Given the description of an element on the screen output the (x, y) to click on. 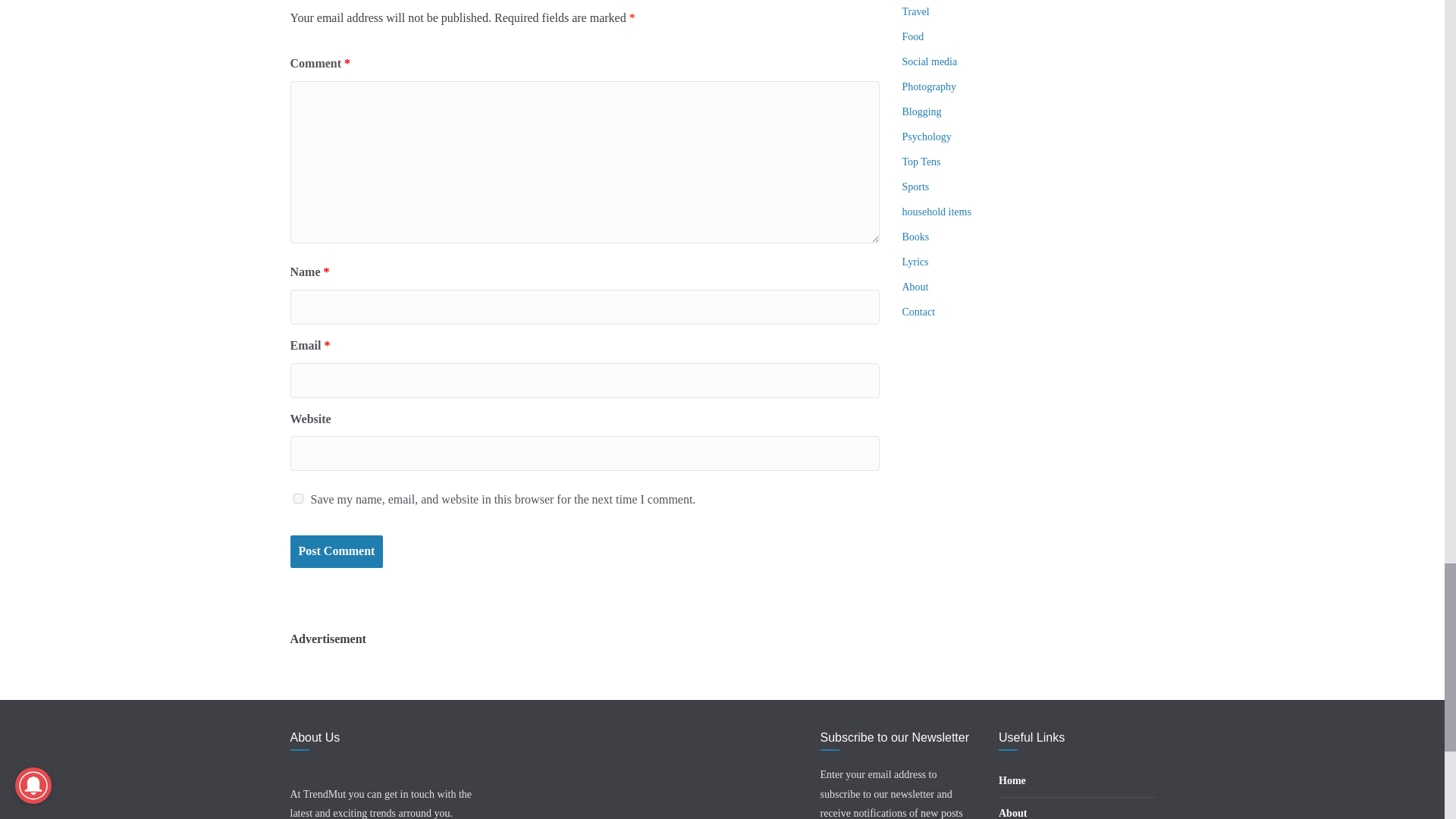
yes (297, 498)
Post Comment (335, 551)
